Given the description of an element on the screen output the (x, y) to click on. 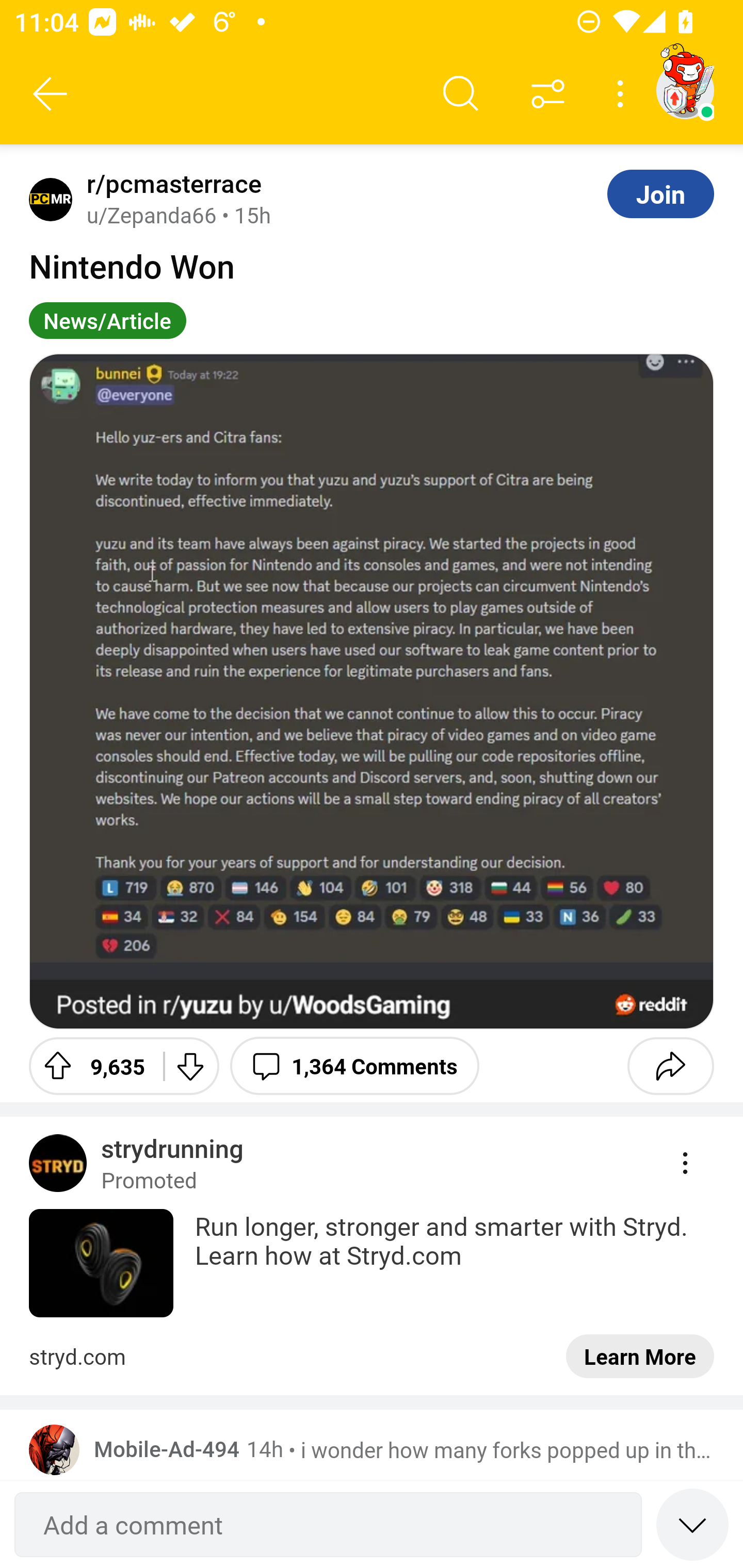
Back (50, 93)
TestAppium002 account (685, 90)
Search comments (460, 93)
Sort comments (547, 93)
More options (623, 93)
r/pcmasterrace (170, 183)
Join (660, 193)
Avatar (50, 199)
News/Article (107, 320)
Image (371, 691)
Upvote 9,635 (88, 1066)
Downvote (189, 1066)
1,364 Comments (354, 1066)
Share (670, 1066)
Avatar (53, 1449)
Speed read (692, 1524)
Add a comment (327, 1524)
